Given the description of an element on the screen output the (x, y) to click on. 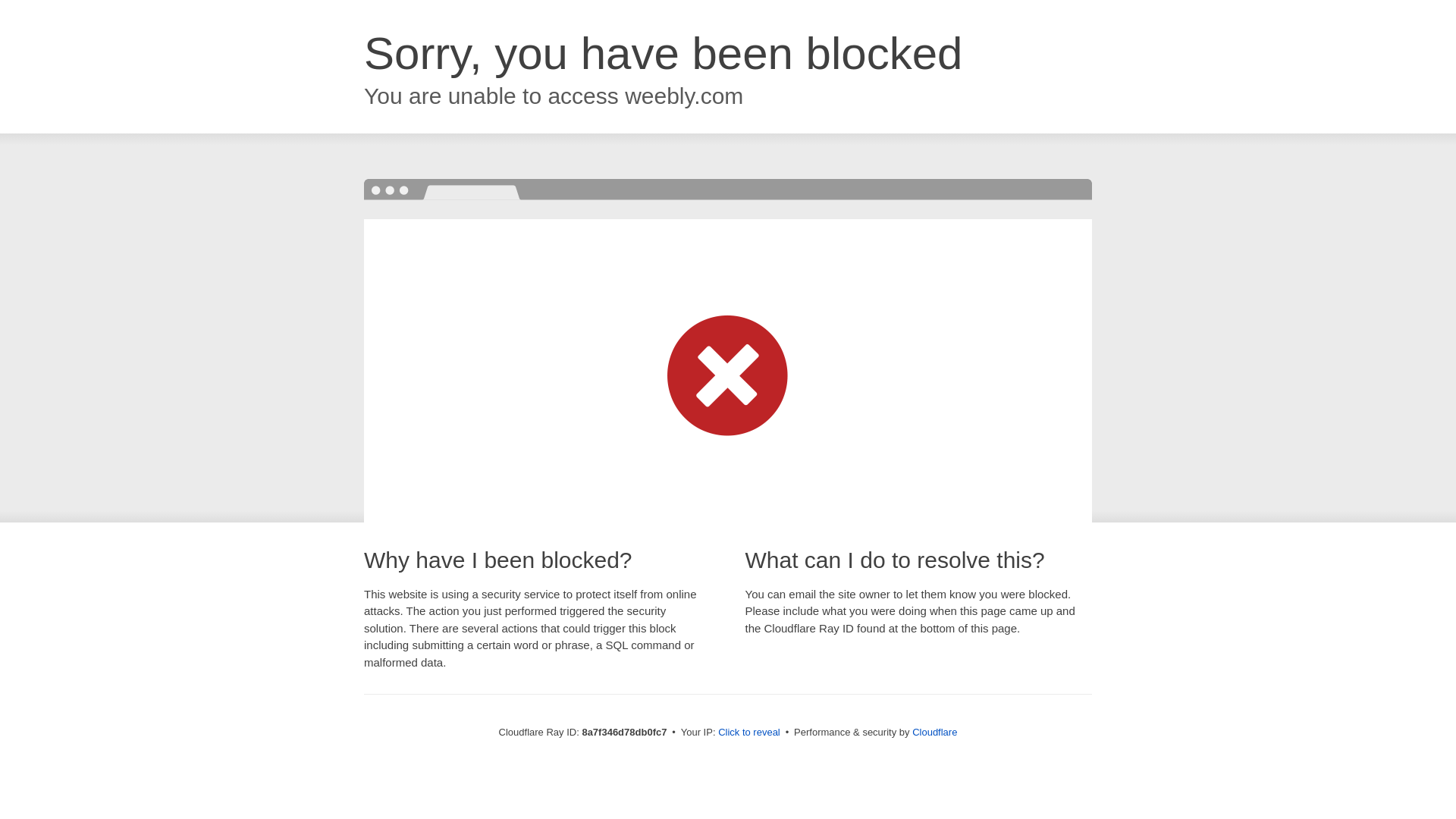
Cloudflare (934, 731)
Click to reveal (748, 732)
